Given the description of an element on the screen output the (x, y) to click on. 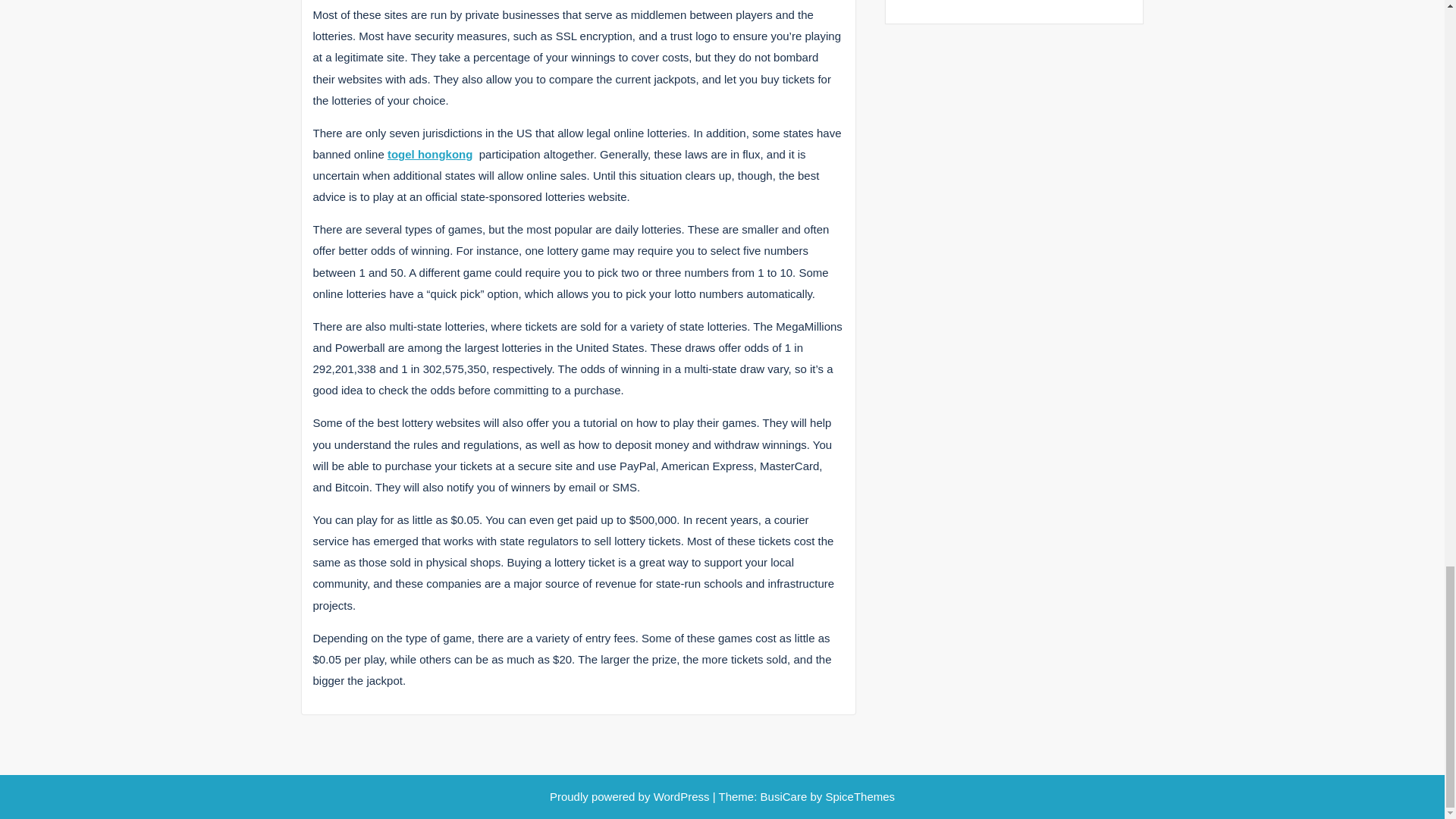
togel hongkong (429, 154)
